Given the description of an element on the screen output the (x, y) to click on. 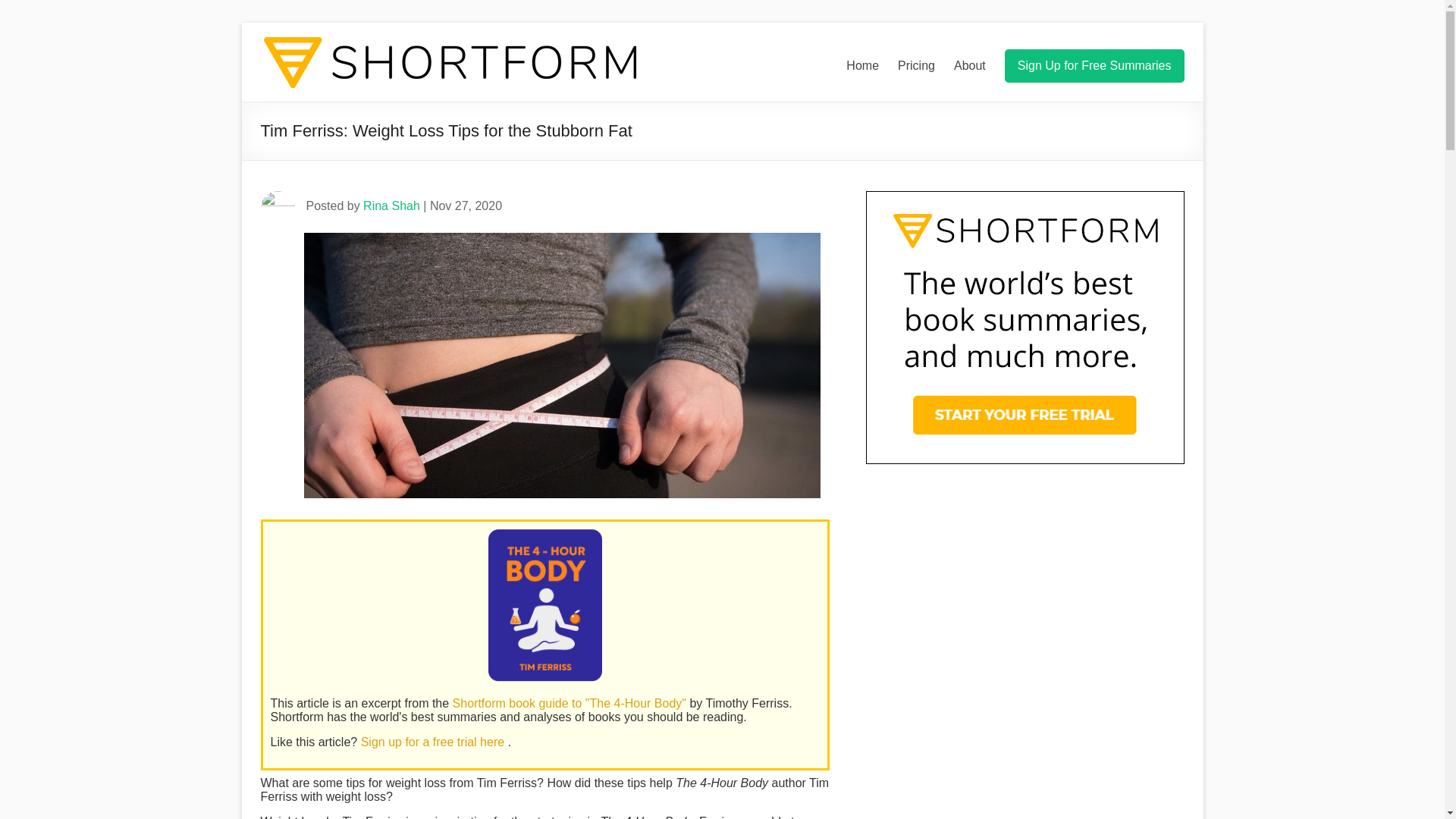
Rina Shah (391, 205)
Sign Up for Free Summaries (1094, 65)
Sign up for a free trial here (434, 741)
Shortform book guide to "The 4-Hour Body" (571, 703)
Home (862, 65)
About (969, 65)
Pricing (916, 65)
